Given the description of an element on the screen output the (x, y) to click on. 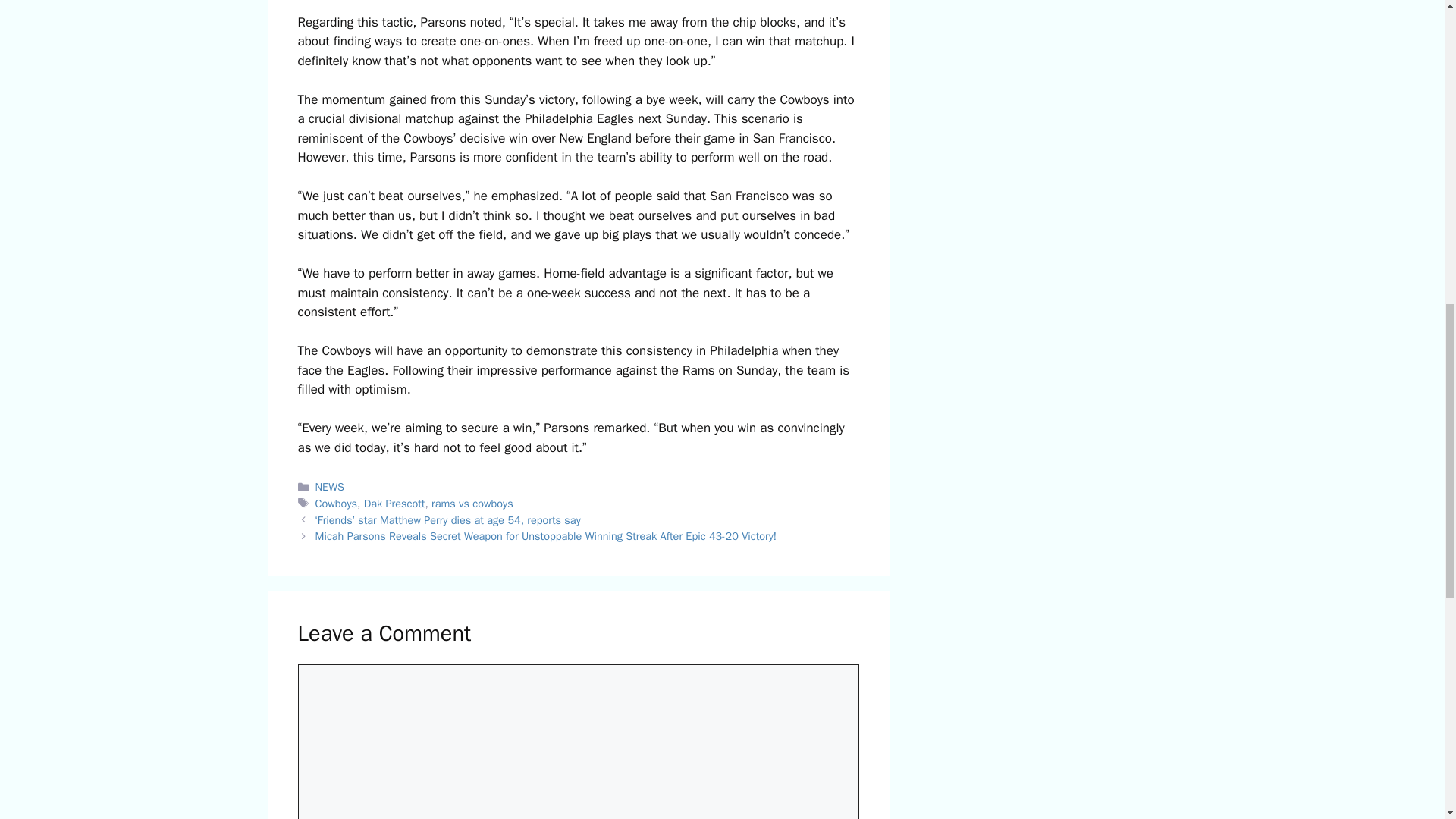
rams vs cowboys (471, 503)
NEWS (329, 486)
Cowboys (335, 503)
Dak Prescott (394, 503)
